Given the description of an element on the screen output the (x, y) to click on. 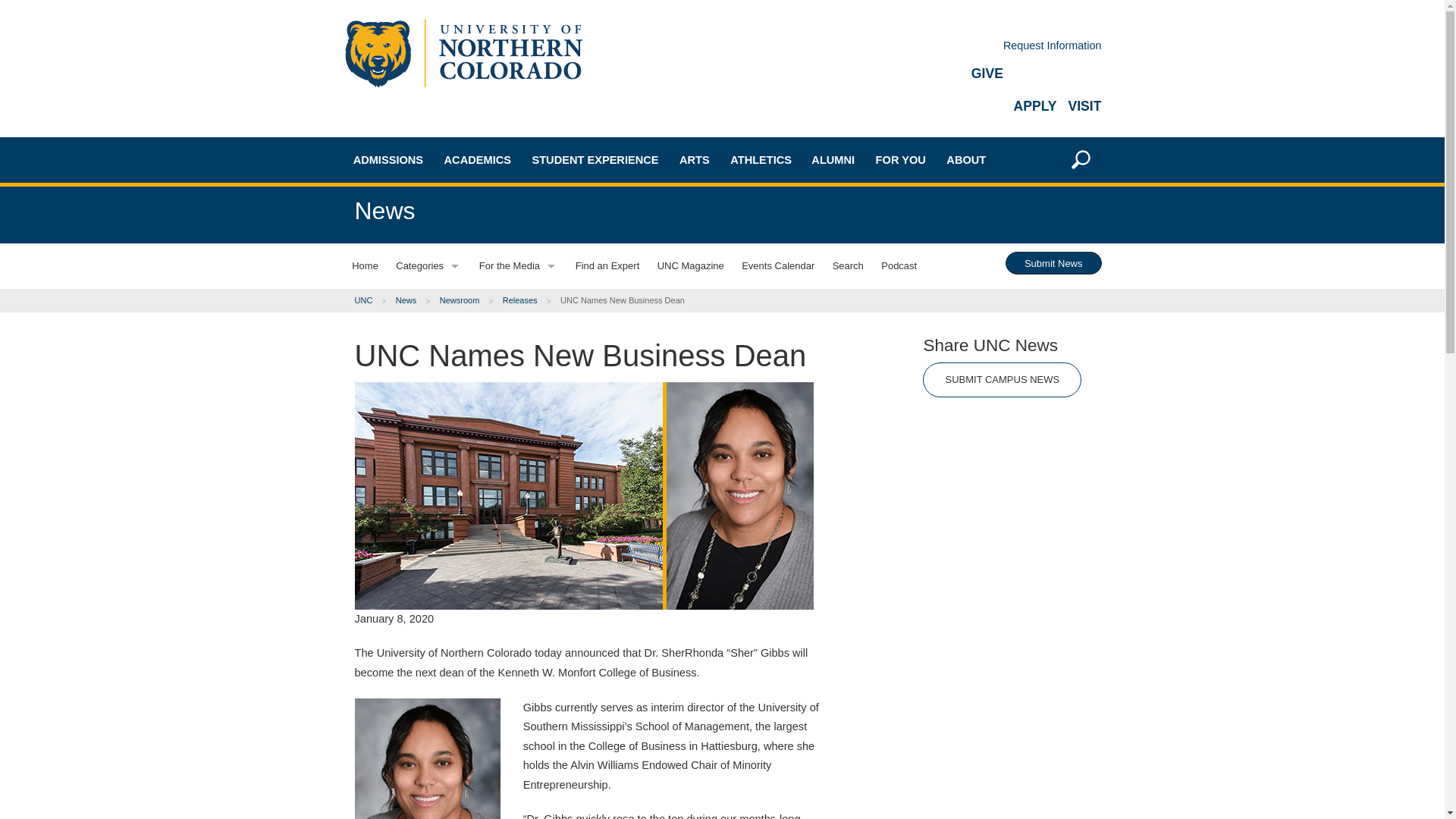
Transfer (418, 254)
Apply (418, 536)
Education Abroad (509, 313)
Library (509, 446)
Graduate Programs (509, 260)
Virtual Tour (418, 483)
Graduate (418, 281)
Catalog (509, 339)
Extended Campus (418, 334)
Financial Aid (418, 408)
Costs (418, 382)
Academic Overview (509, 207)
APPLY (1035, 105)
VISIT (1083, 105)
GIVE (987, 73)
